Given the description of an element on the screen output the (x, y) to click on. 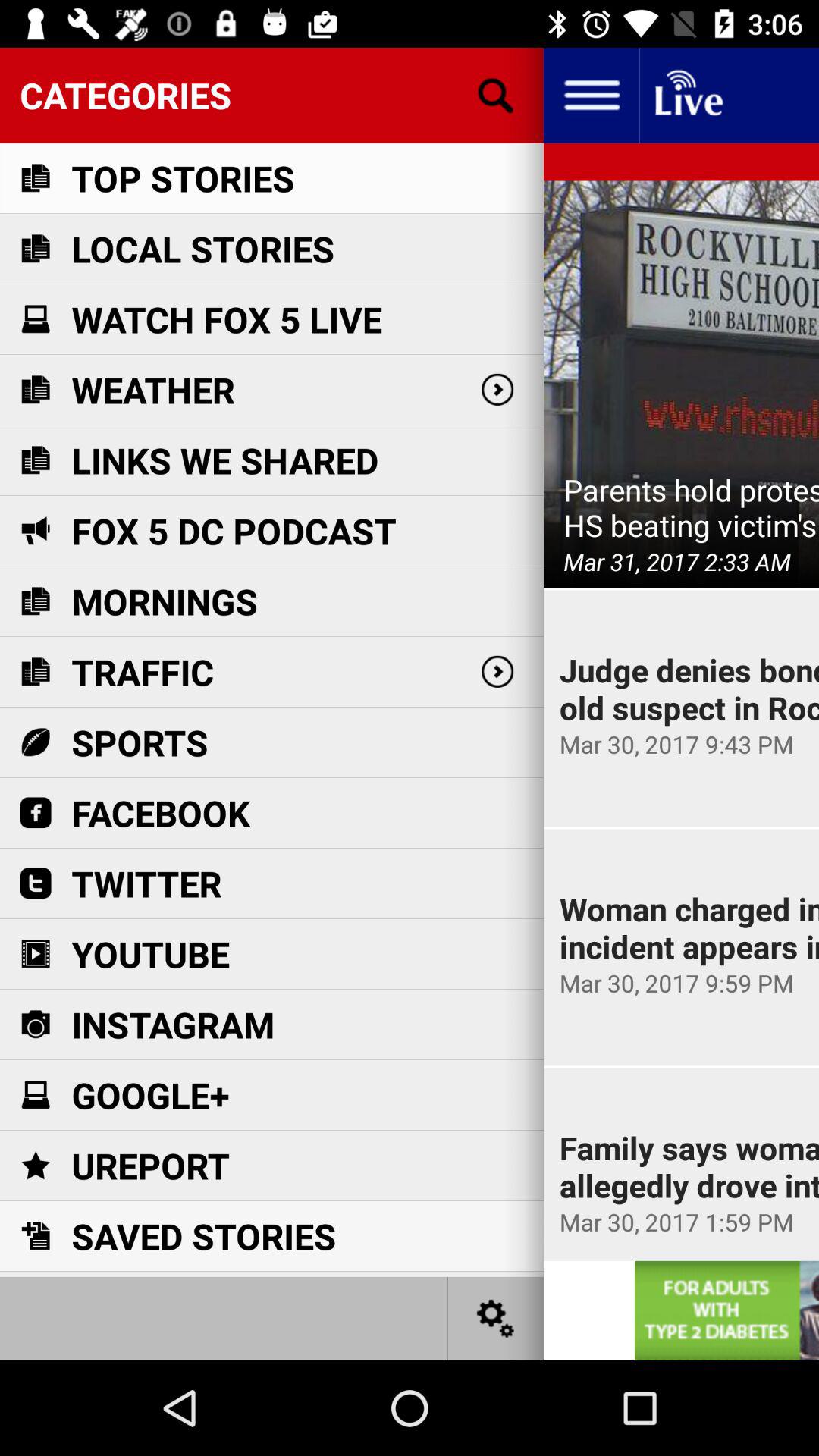
go to homepage (687, 95)
